Given the description of an element on the screen output the (x, y) to click on. 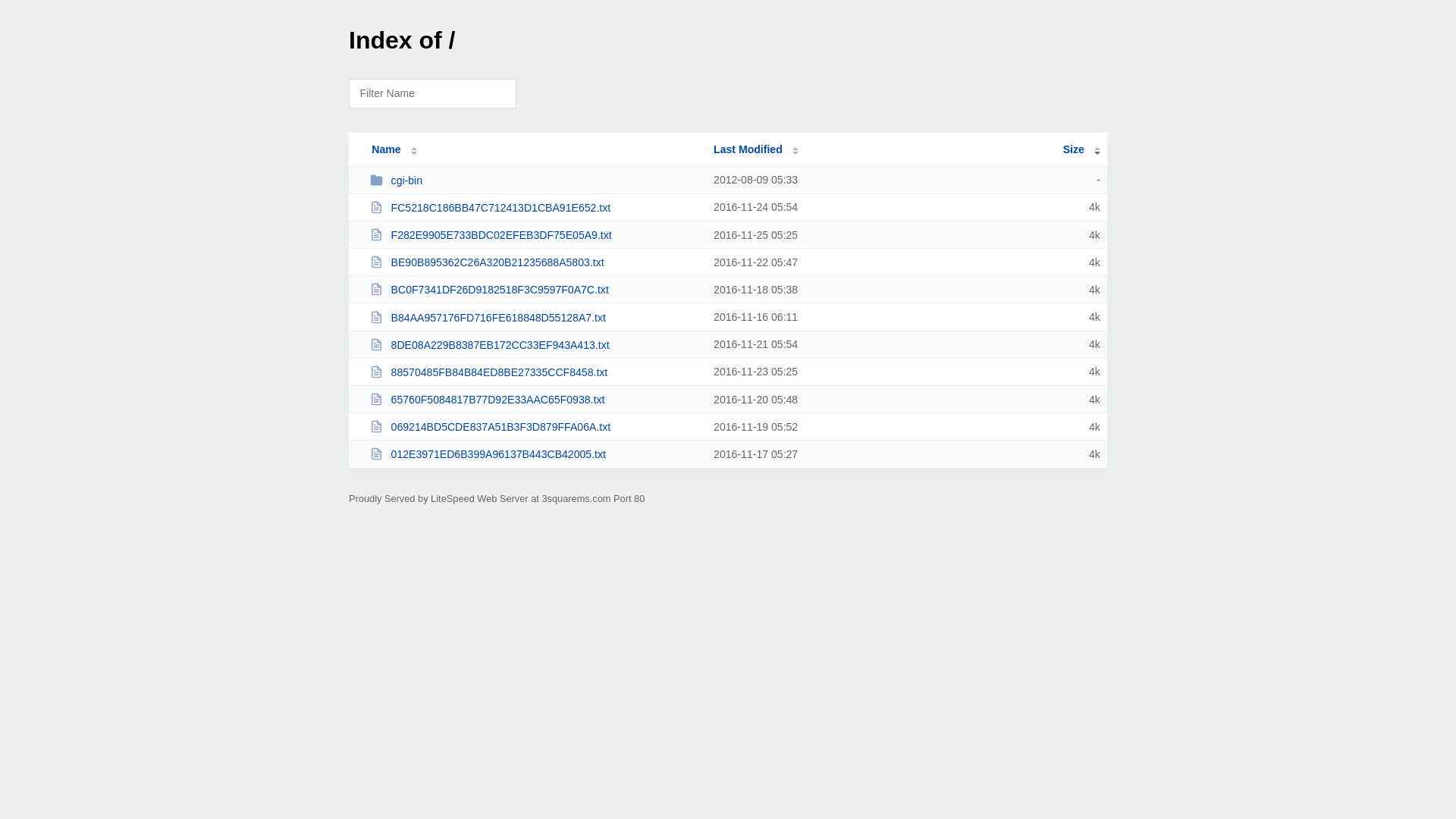
88570485FB84B84ED8BE27335CCF8458.txt Element type: text (534, 371)
F282E9905E733BDC02EFEB3DF75E05A9.txt Element type: text (534, 234)
069214BD5CDE837A51B3F3D879FFA06A.txt Element type: text (534, 426)
Last Modified Element type: text (755, 149)
FC5218C186BB47C712413D1CBA91E652.txt Element type: text (534, 206)
BC0F7341DF26D9182518F3C9597F0A7C.txt Element type: text (534, 288)
BE90B895362C26A320B21235688A5803.txt Element type: text (534, 261)
Name Element type: text (385, 149)
8DE08A229B8387EB172CC33EF943A413.txt Element type: text (534, 344)
cgi-bin Element type: text (534, 179)
012E3971ED6B399A96137B443CB42005.txt Element type: text (534, 453)
Size Element type: text (1081, 149)
B84AA957176FD716FE618848D55128A7.txt Element type: text (534, 316)
65760F5084817B77D92E33AAC65F0938.txt Element type: text (534, 398)
